Given the description of an element on the screen output the (x, y) to click on. 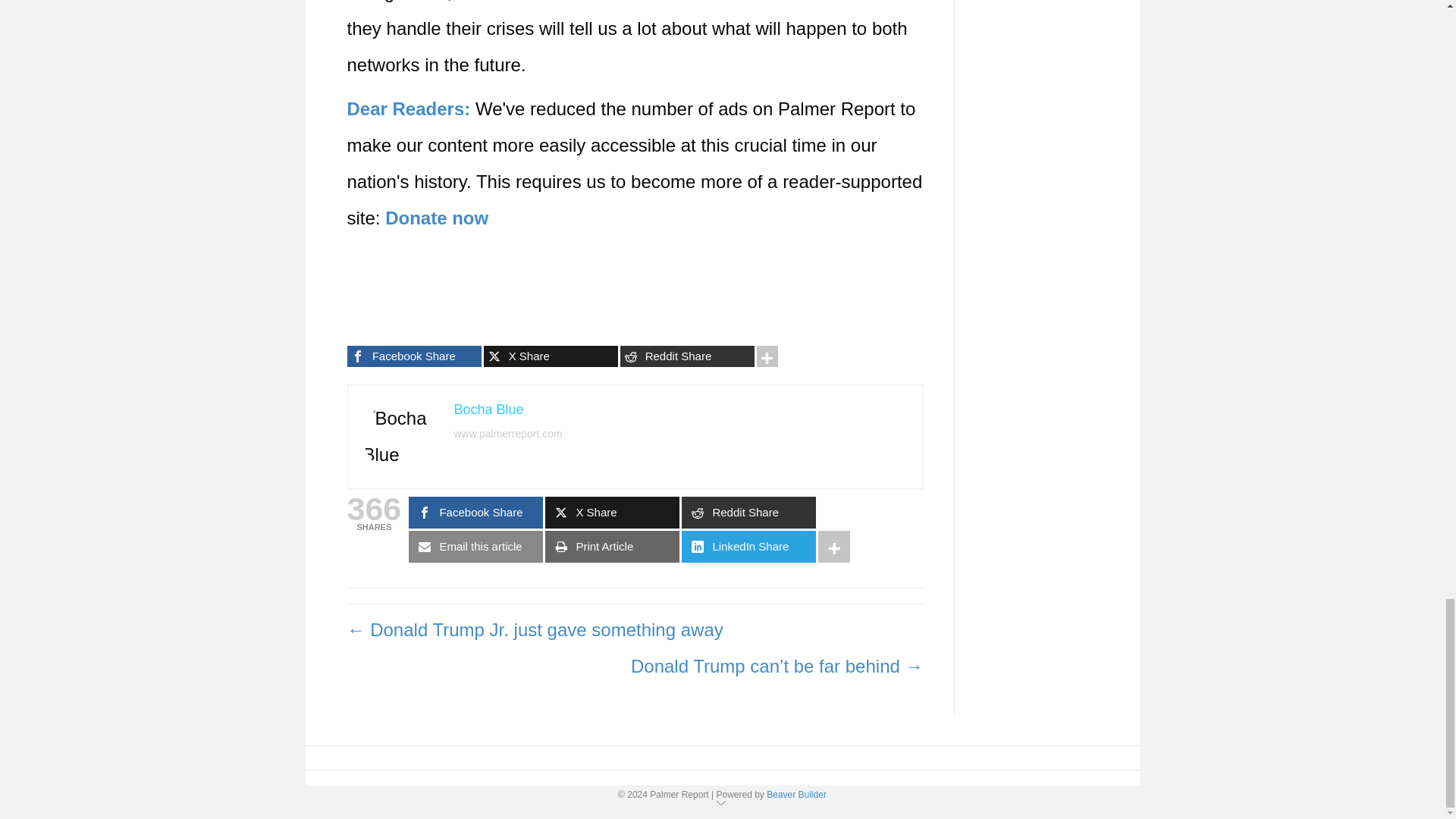
Dear Readers: (408, 108)
Reddit Share (687, 355)
X Share (550, 355)
Facebook Share (414, 355)
Donate now (436, 218)
WordPress Page Builder Plugin (797, 794)
